Given the description of an element on the screen output the (x, y) to click on. 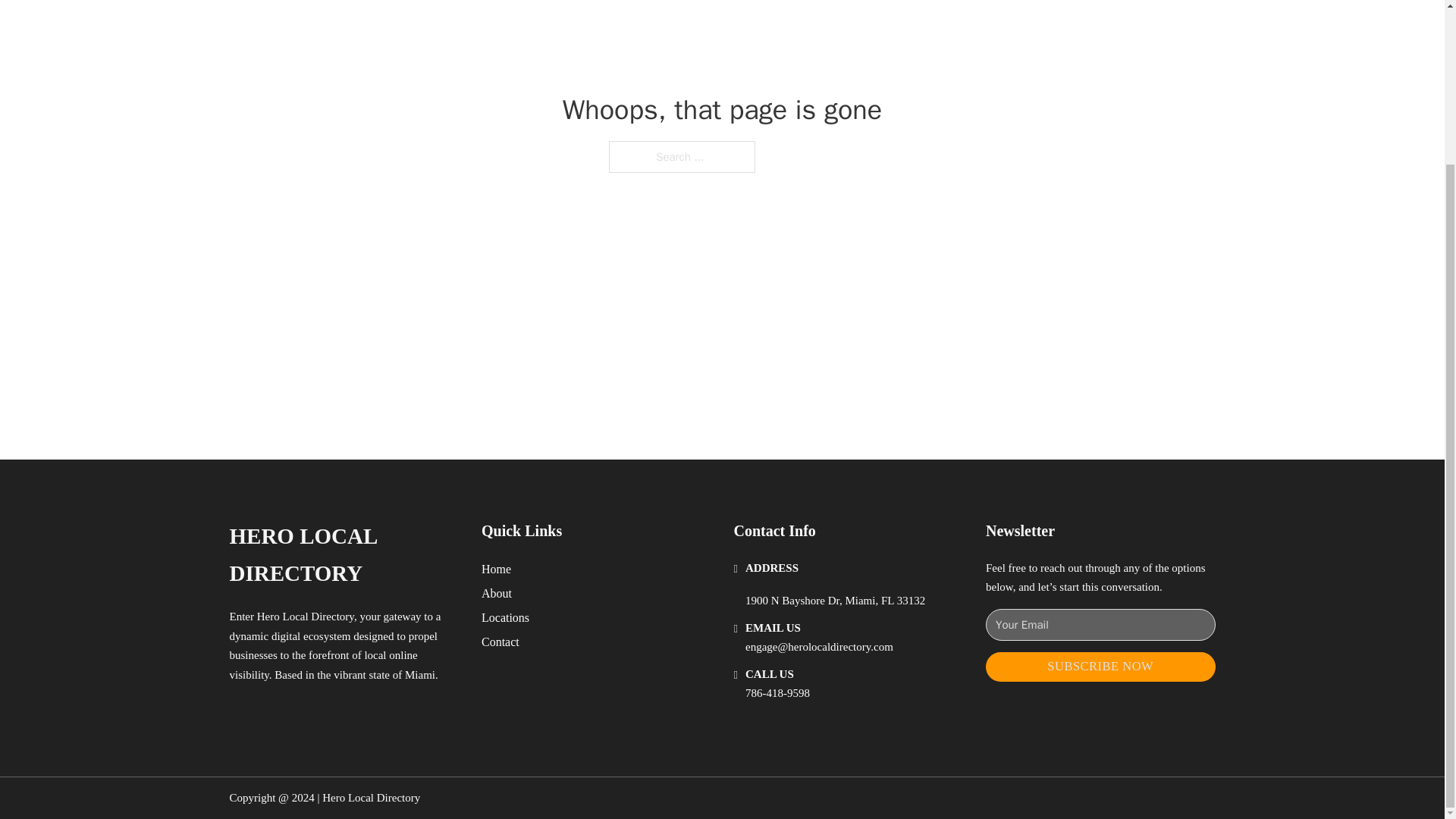
About (496, 593)
786-418-9598 (777, 693)
Contact (500, 641)
Home (496, 568)
SUBSCRIBE NOW (1100, 666)
HERO LOCAL DIRECTORY (343, 554)
Locations (505, 617)
